Given the description of an element on the screen output the (x, y) to click on. 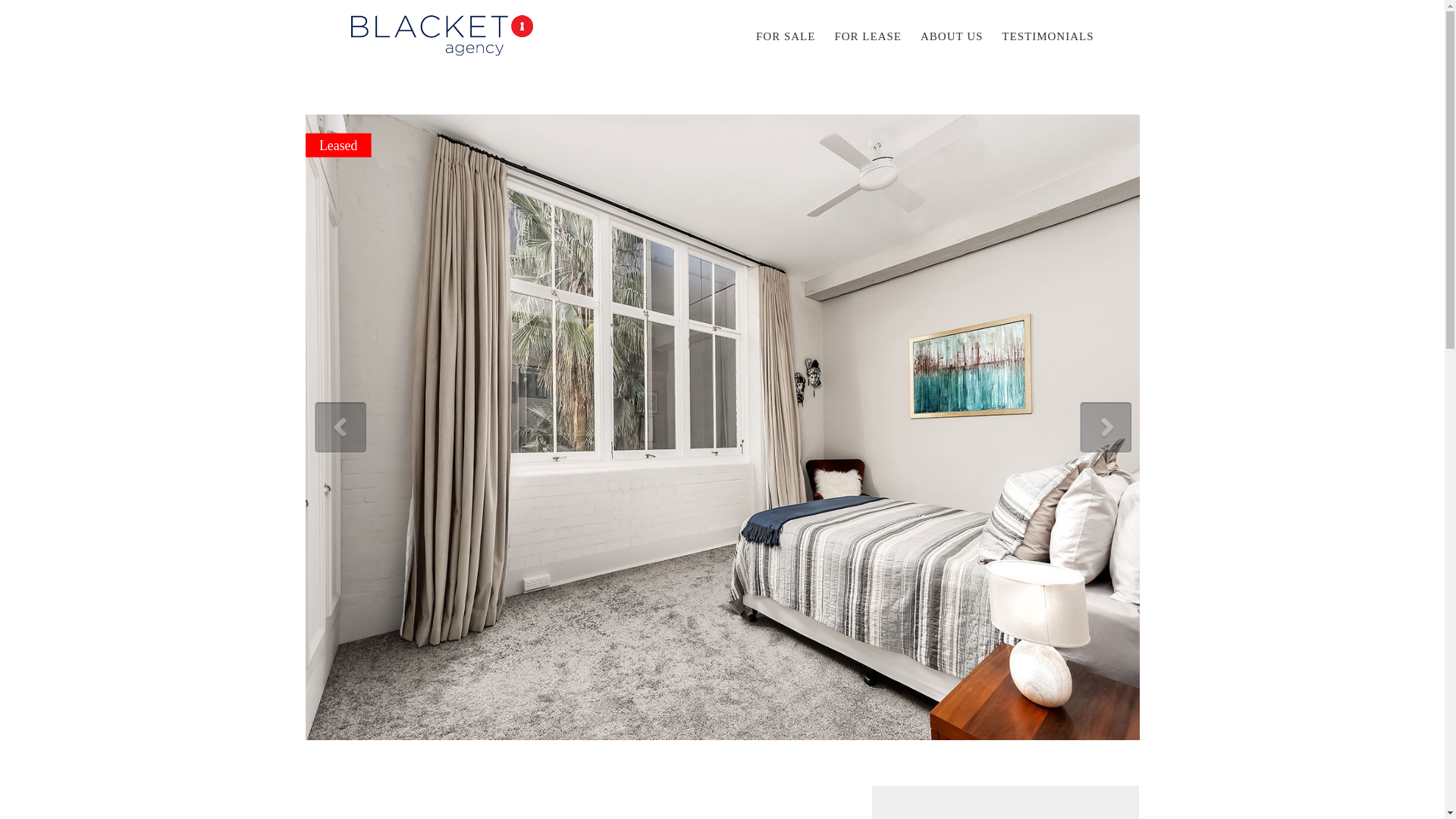
TESTIMONIALS (1047, 36)
FOR LEASE (867, 36)
